Given the description of an element on the screen output the (x, y) to click on. 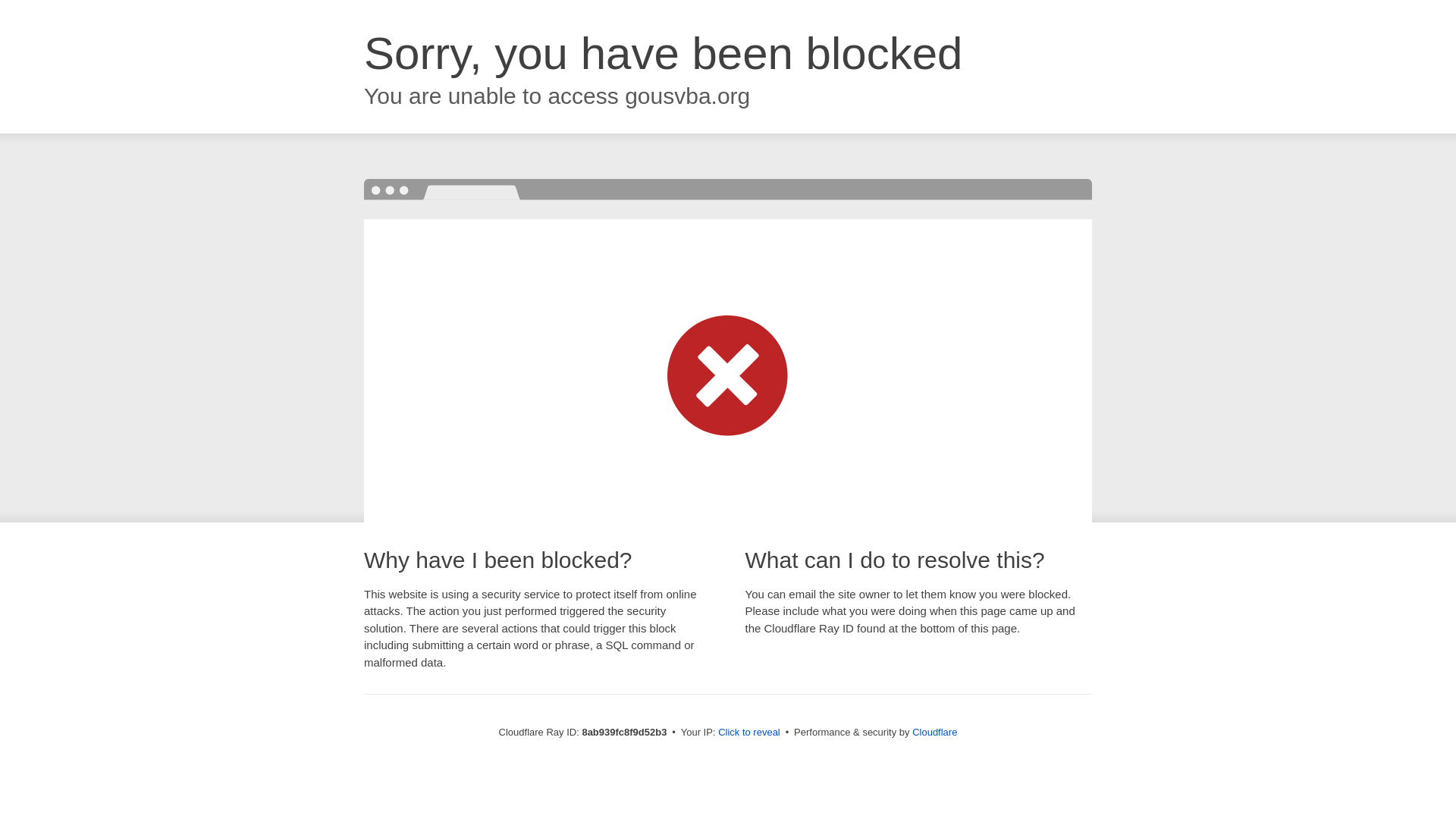
Click to reveal (748, 732)
Cloudflare (934, 731)
